Given the description of an element on the screen output the (x, y) to click on. 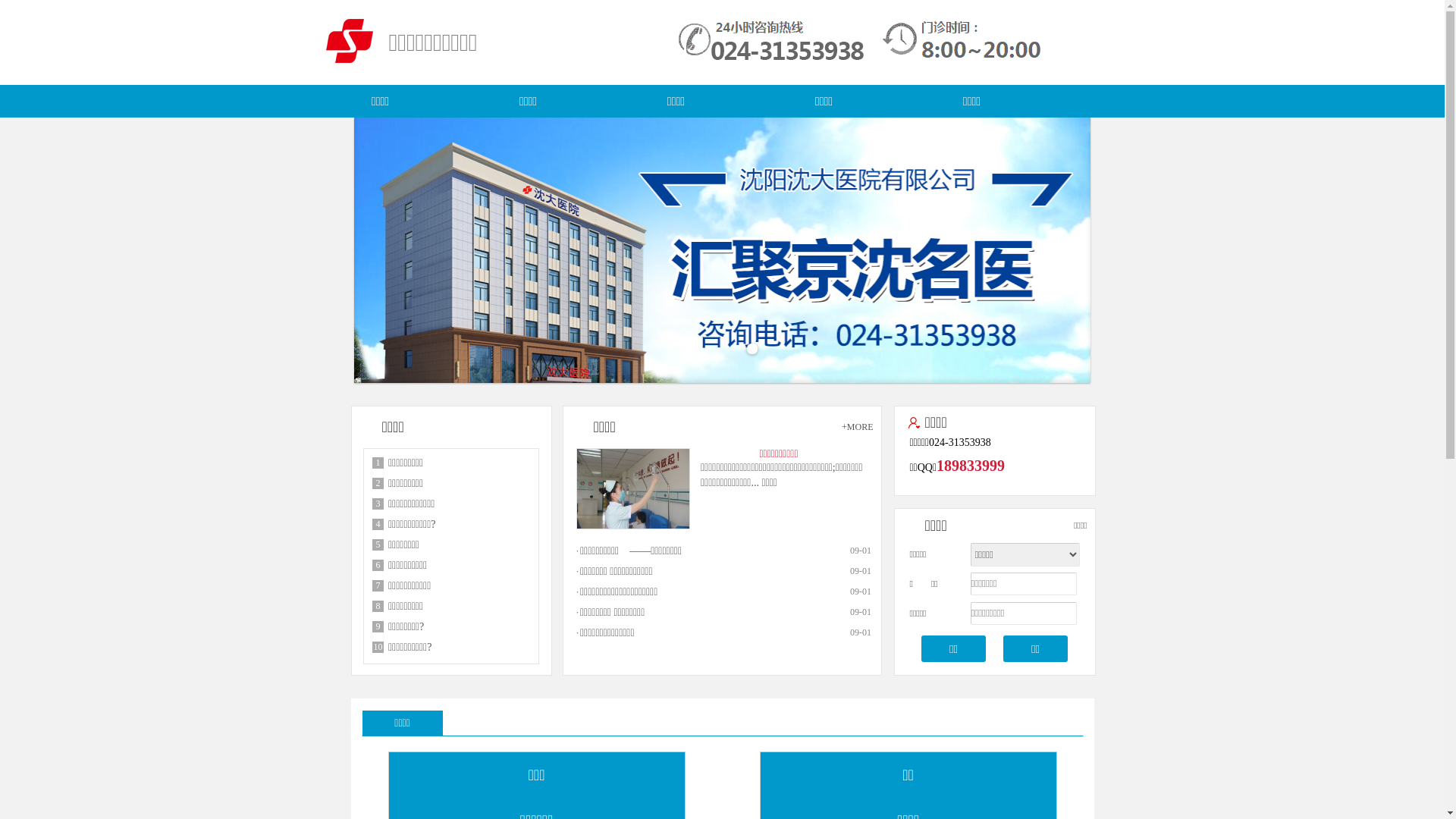
+MORE Element type: text (856, 426)
